Given the description of an element on the screen output the (x, y) to click on. 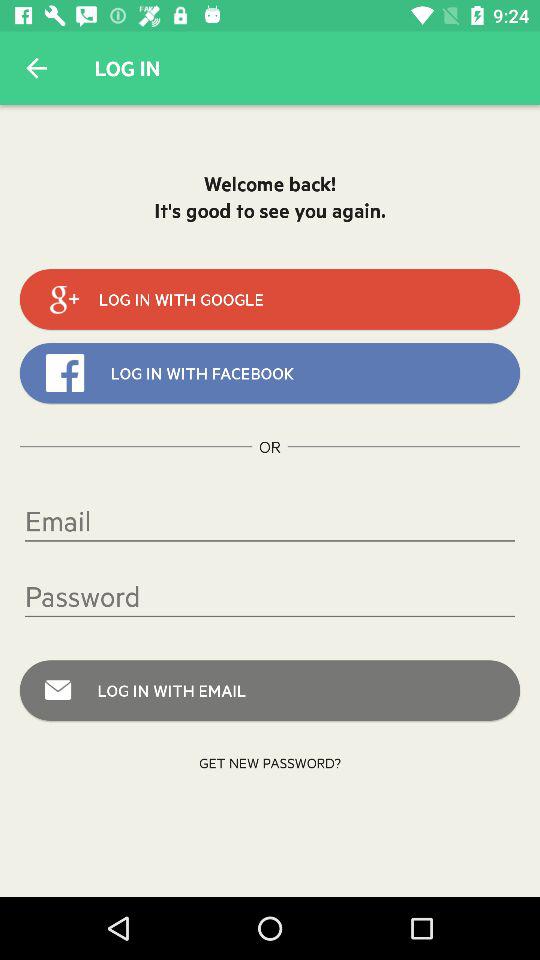
open item below or (269, 520)
